Given the description of an element on the screen output the (x, y) to click on. 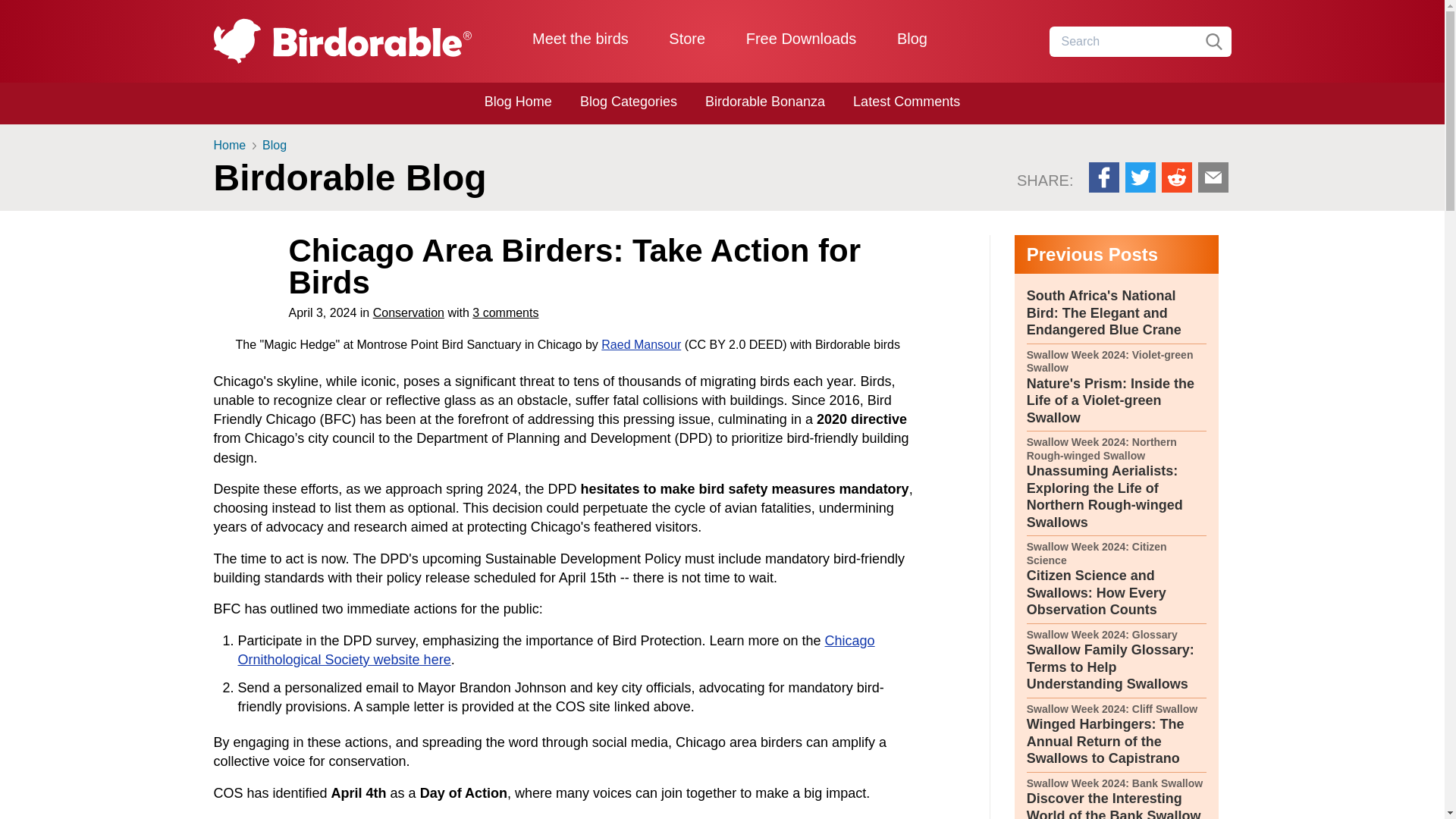
Store (686, 38)
Blog (911, 38)
Meet the birds (580, 38)
Free Downloads (801, 38)
Blog Home (517, 101)
